Given the description of an element on the screen output the (x, y) to click on. 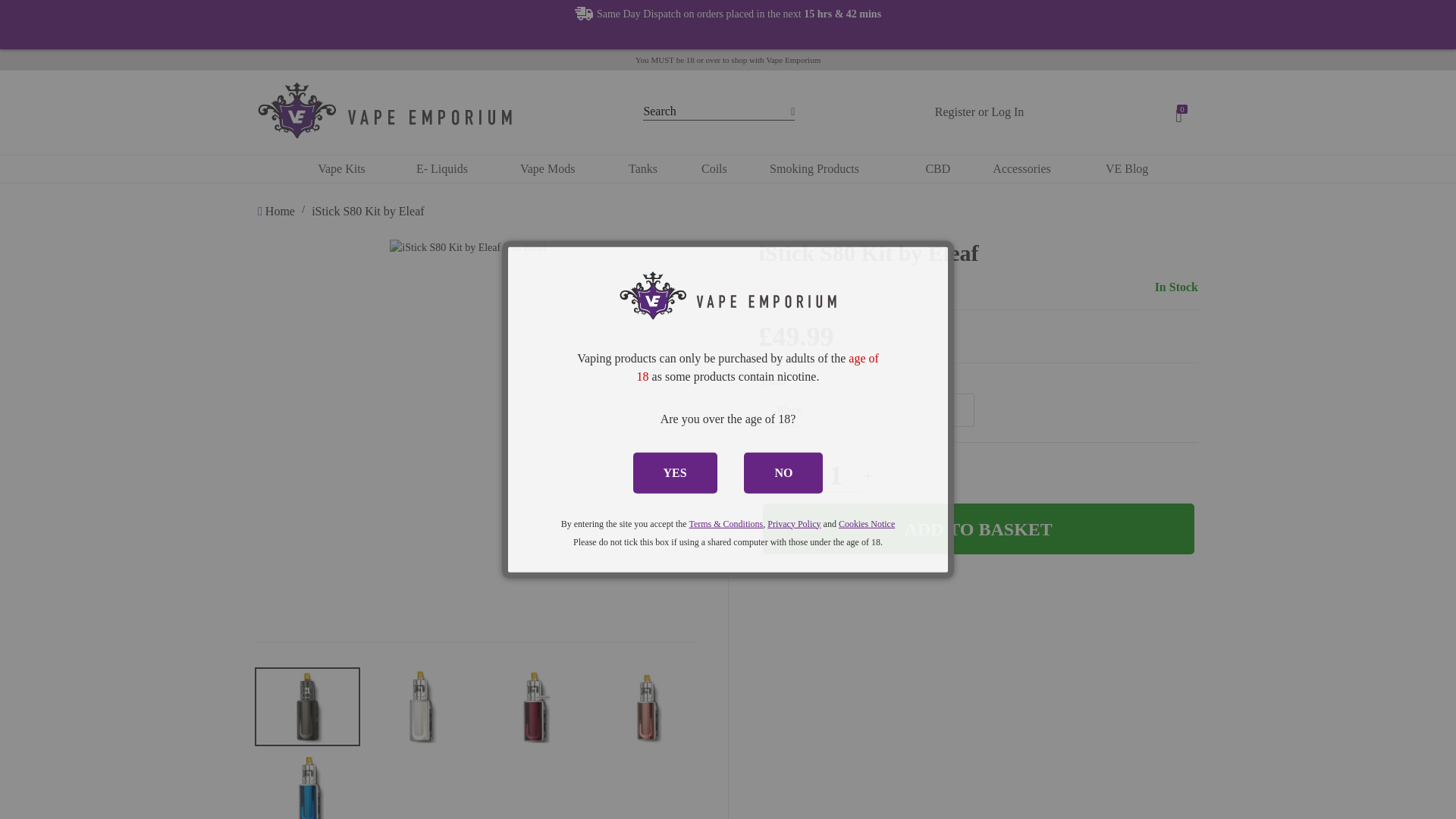
0 (1181, 112)
E- Liquids (442, 168)
Log In (1007, 111)
Go to Home Page (277, 210)
1 (835, 475)
Vape Kits (341, 168)
Customer reviews powered by Trustpilot (727, 35)
Register (954, 111)
Qty (835, 475)
